Given the description of an element on the screen output the (x, y) to click on. 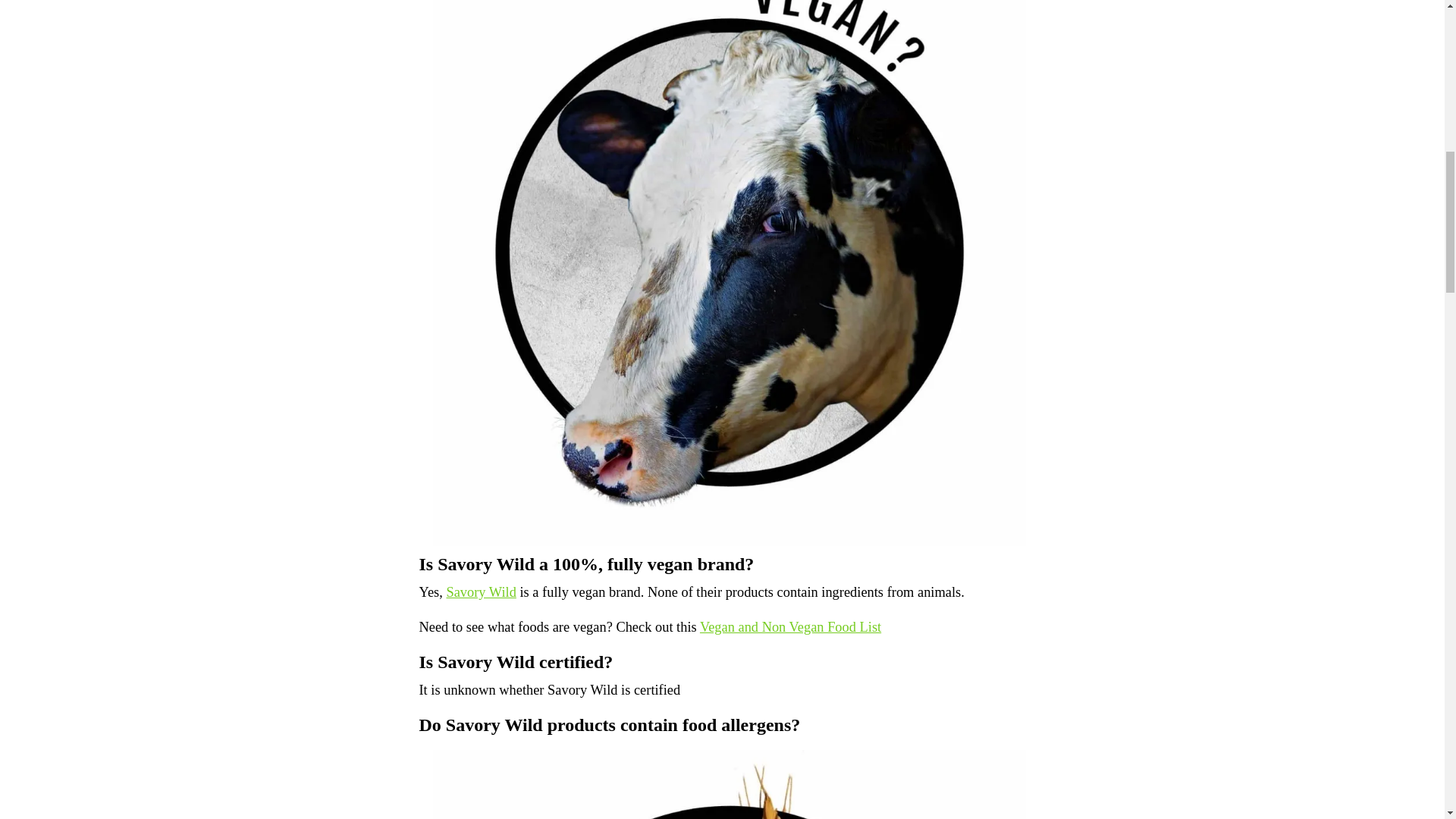
Savory Wild (480, 591)
Vegan and Non Vegan Food List (790, 626)
